Given the description of an element on the screen output the (x, y) to click on. 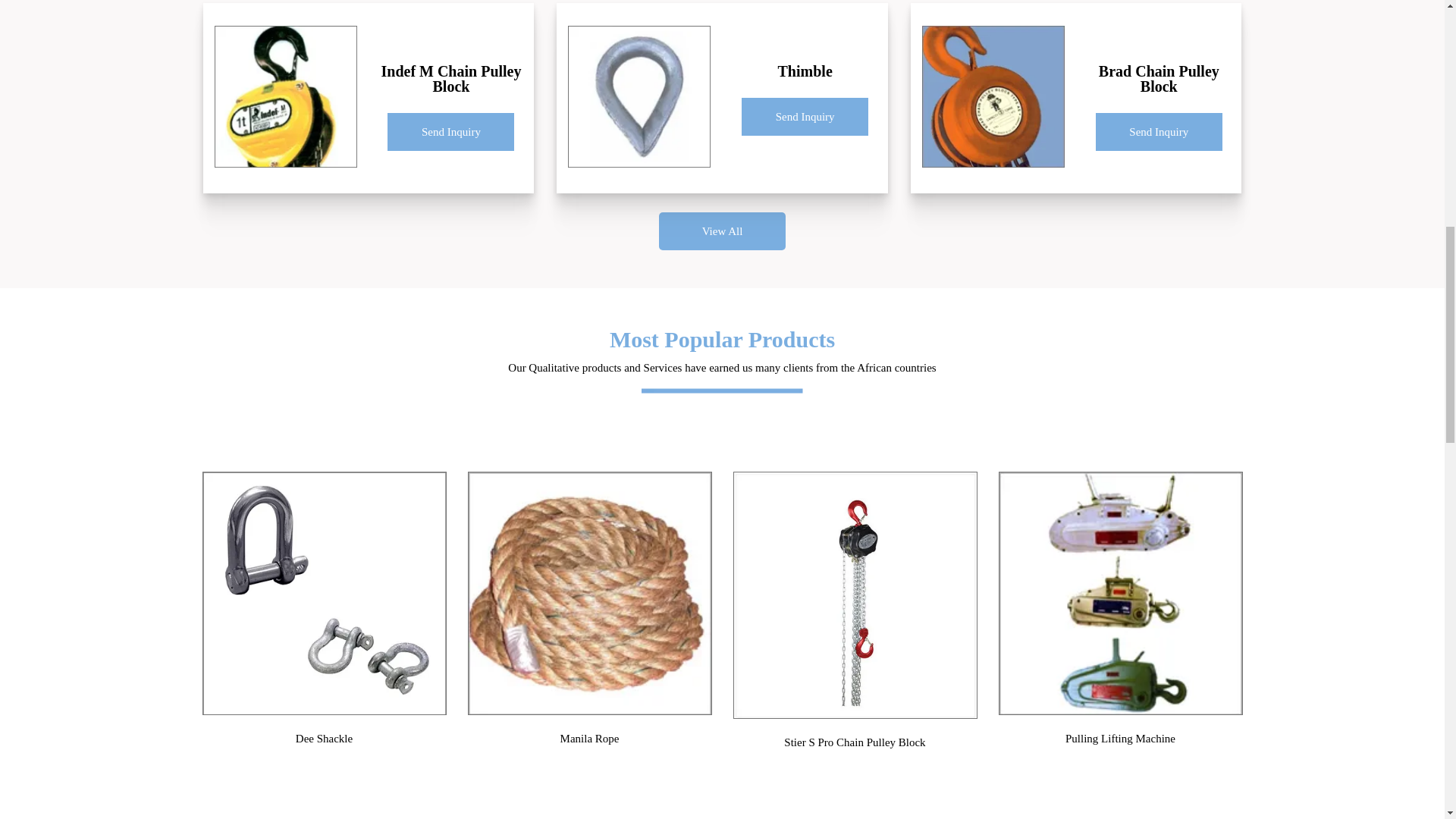
Dee Shackle (324, 593)
Stier S Pro Chain Pulley Block (854, 595)
Manila Rope (589, 593)
Pulling Lifting Machine (1119, 593)
